Given the description of an element on the screen output the (x, y) to click on. 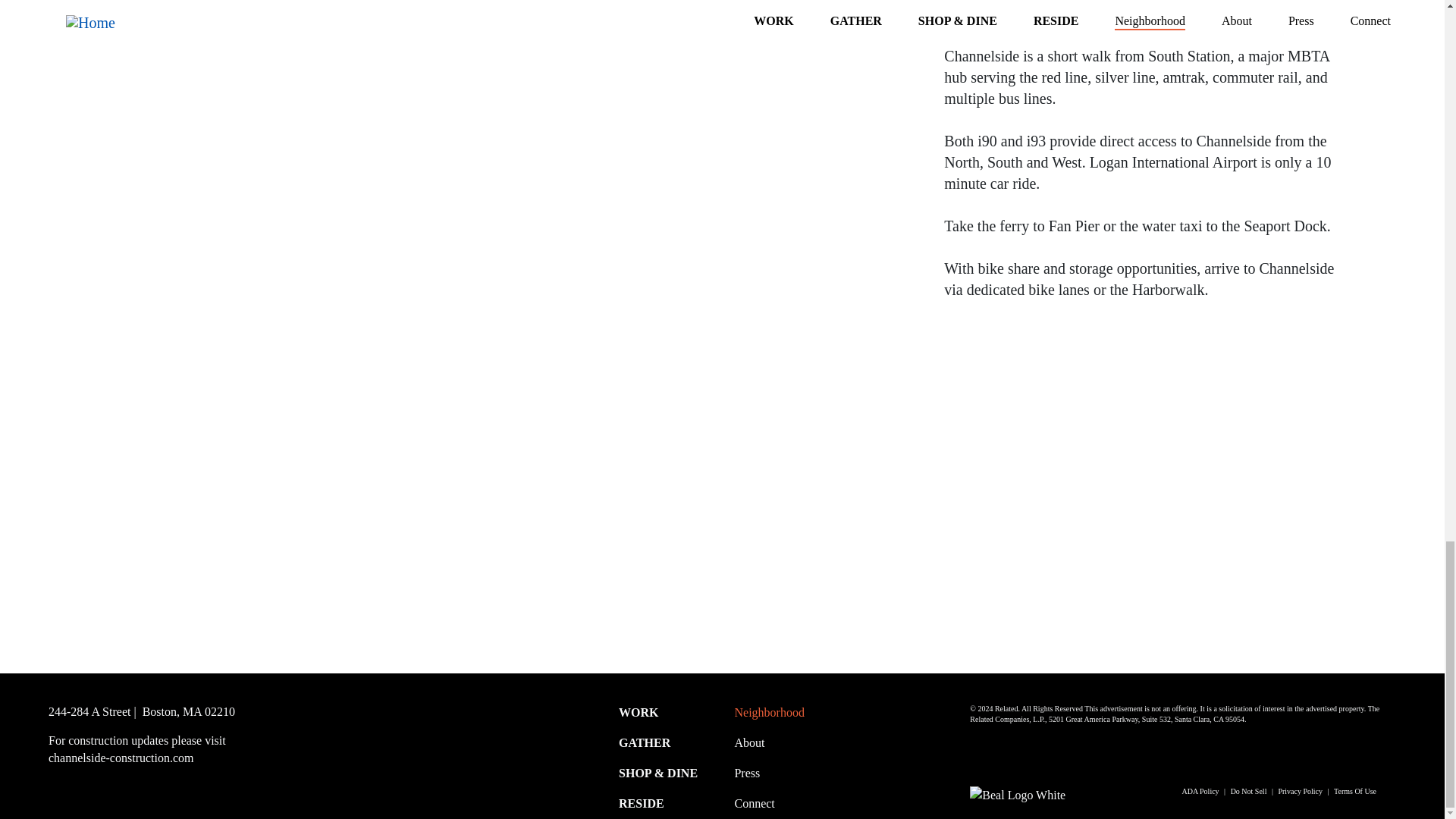
About (748, 742)
RESIDE (640, 802)
Accessibility (69, 785)
Instagram (143, 785)
GATHER (643, 742)
Next (1421, 548)
Do Not Sell (1248, 791)
Terms Of Use (1354, 791)
Connect (753, 802)
Facebook (113, 785)
ADA Policy (1199, 791)
Neighborhood (768, 712)
Previous (22, 548)
WORK (638, 712)
Press (746, 772)
